Given the description of an element on the screen output the (x, y) to click on. 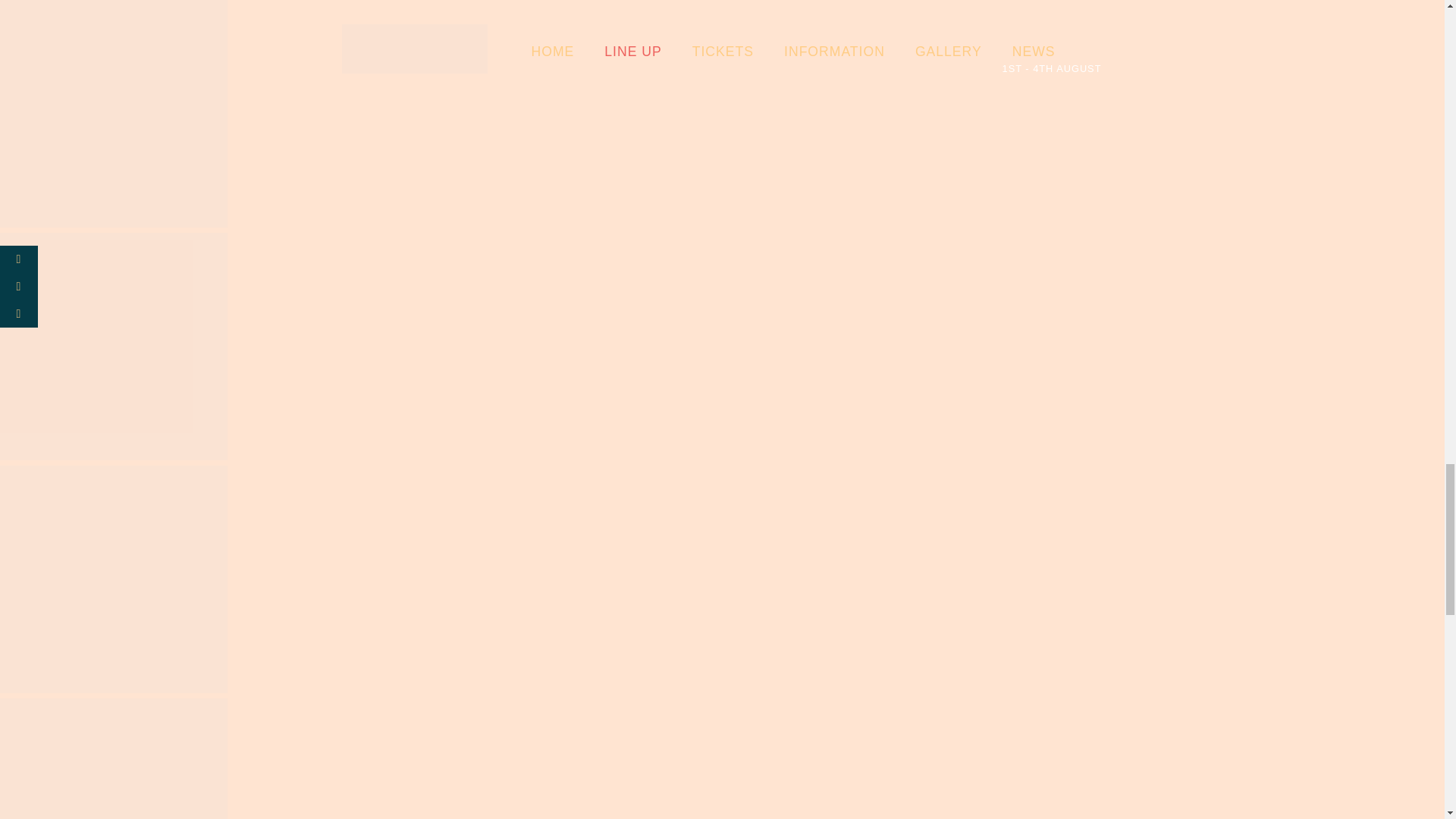
Each year we support the fantastic Two Saints charity (113, 349)
Powder Monkey Brewery (113, 582)
Sound Level Events (113, 116)
